Given the description of an element on the screen output the (x, y) to click on. 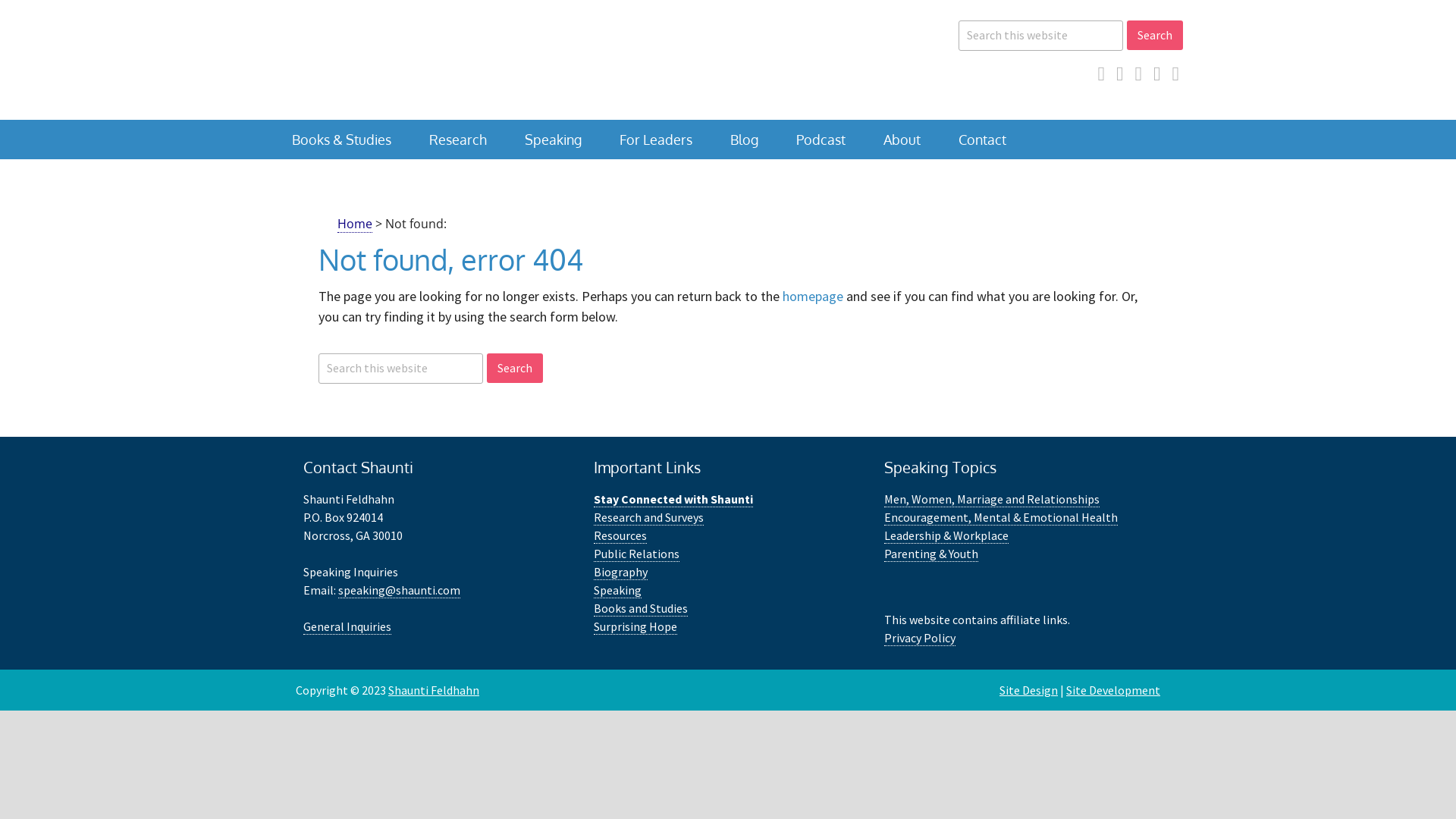
Biography Element type: text (620, 572)
Search Element type: text (514, 367)
Public Relations Element type: text (636, 553)
Search Element type: text (1154, 35)
About Element type: text (901, 139)
Speaking Element type: text (617, 590)
Site Design Element type: text (1028, 689)
General Inquiries Element type: text (347, 626)
Blog Element type: text (744, 139)
Home Element type: text (354, 223)
Shaunti Feldhahn Element type: text (433, 689)
Stay Connected with Shaunti Element type: text (673, 499)
Books & Studies Element type: text (341, 139)
Men, Women, Marriage and Relationships Element type: text (991, 499)
speaking@shaunti.com Element type: text (399, 590)
Podcast Element type: text (820, 139)
Resources Element type: text (619, 535)
Surprising Hope Element type: text (635, 626)
Research Element type: text (457, 139)
Shaunti Feldhahn Element type: text (424, 59)
For Leaders Element type: text (655, 139)
Books and Studies Element type: text (640, 608)
Site Development Element type: text (1113, 689)
Contact Element type: text (982, 139)
homepage Element type: text (812, 295)
Parenting & Youth Element type: text (931, 553)
Speaking Element type: text (552, 139)
Privacy Policy Element type: text (919, 637)
Leadership & Workplace Element type: text (946, 535)
Research and Surveys Element type: text (648, 517)
Encouragement, Mental & Emotional Health Element type: text (1000, 517)
